Given the description of an element on the screen output the (x, y) to click on. 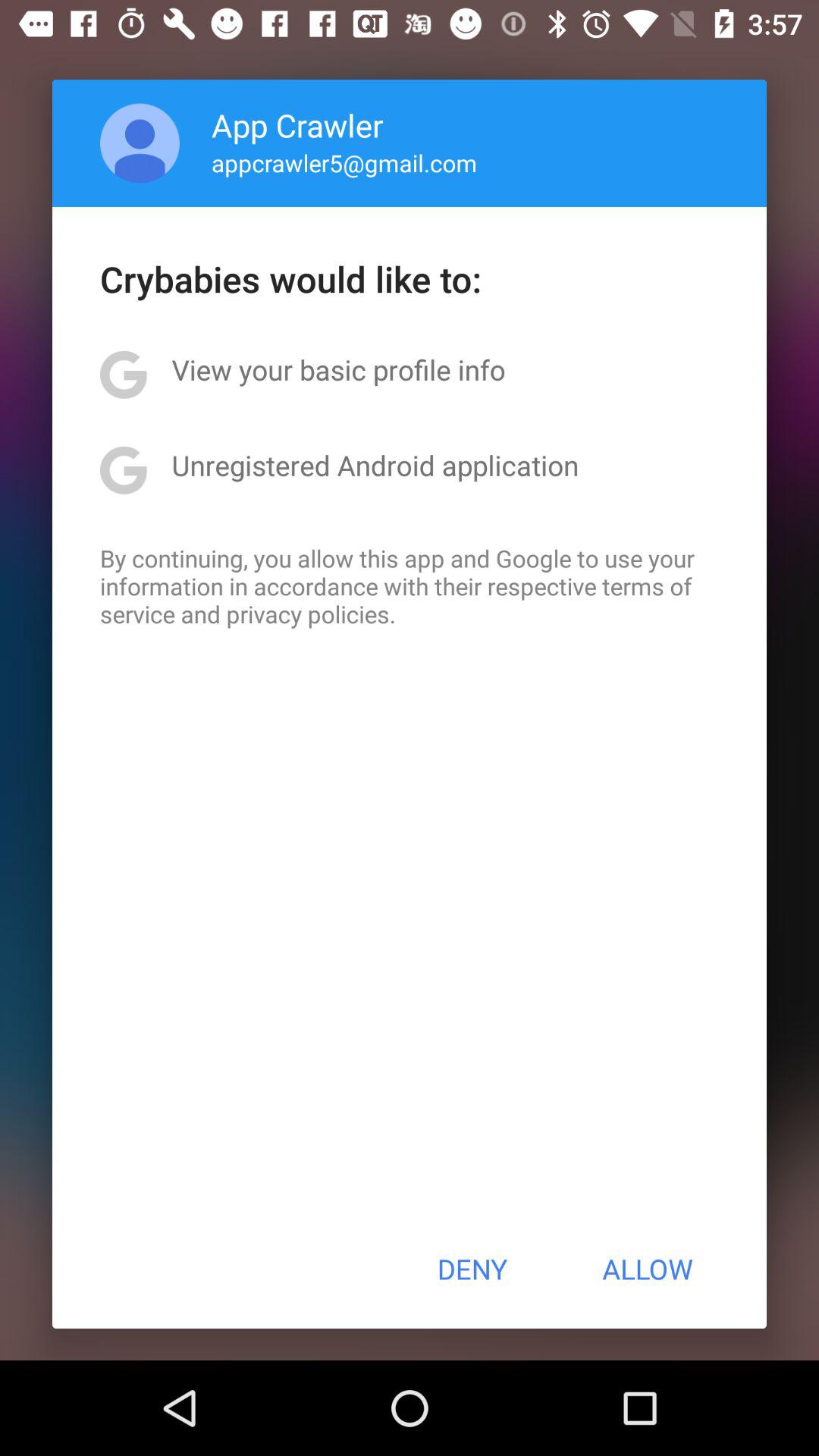
scroll until appcrawler5@gmail.com app (344, 162)
